Given the description of an element on the screen output the (x, y) to click on. 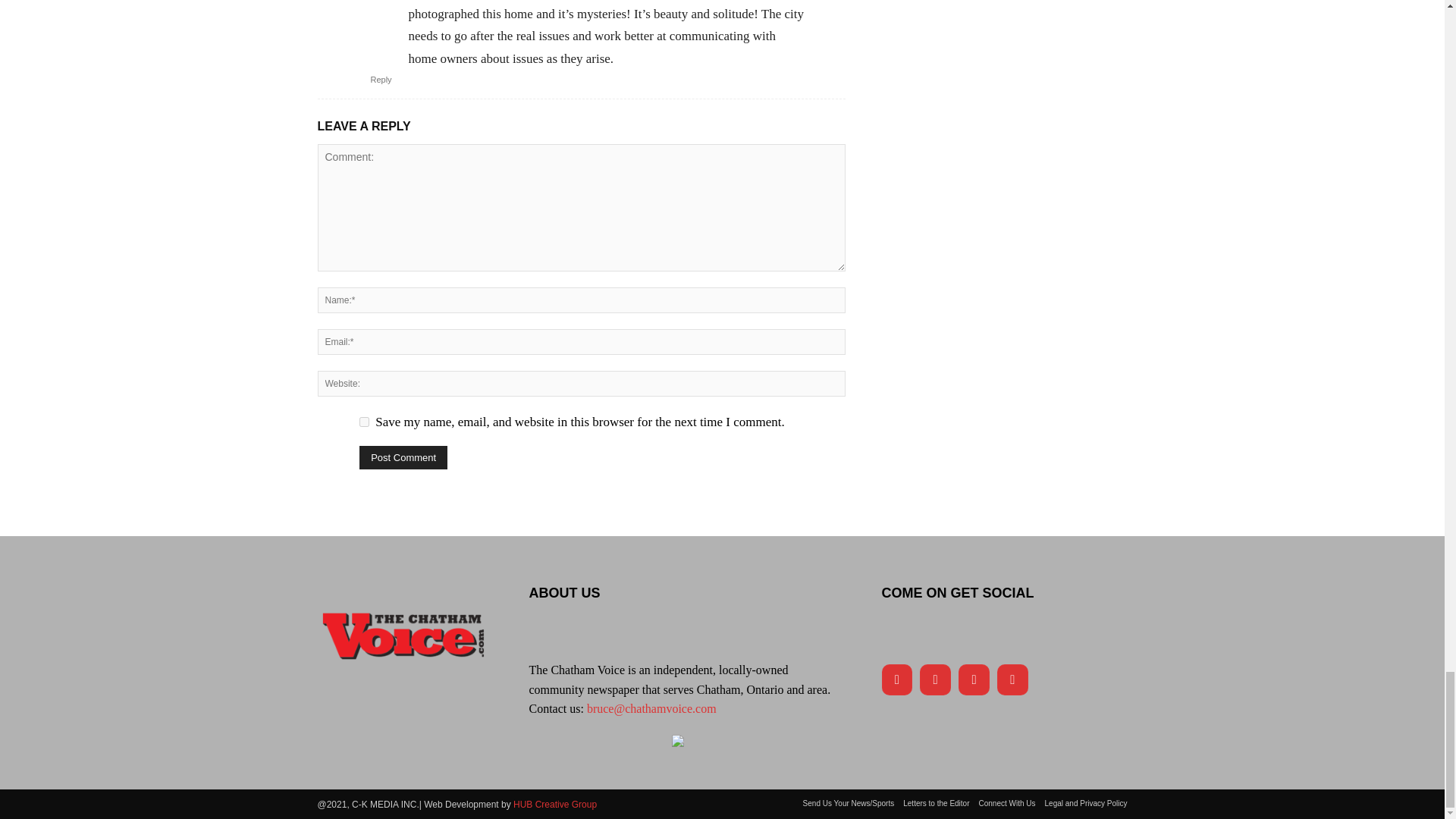
yes (364, 421)
Post Comment (402, 457)
